Given the description of an element on the screen output the (x, y) to click on. 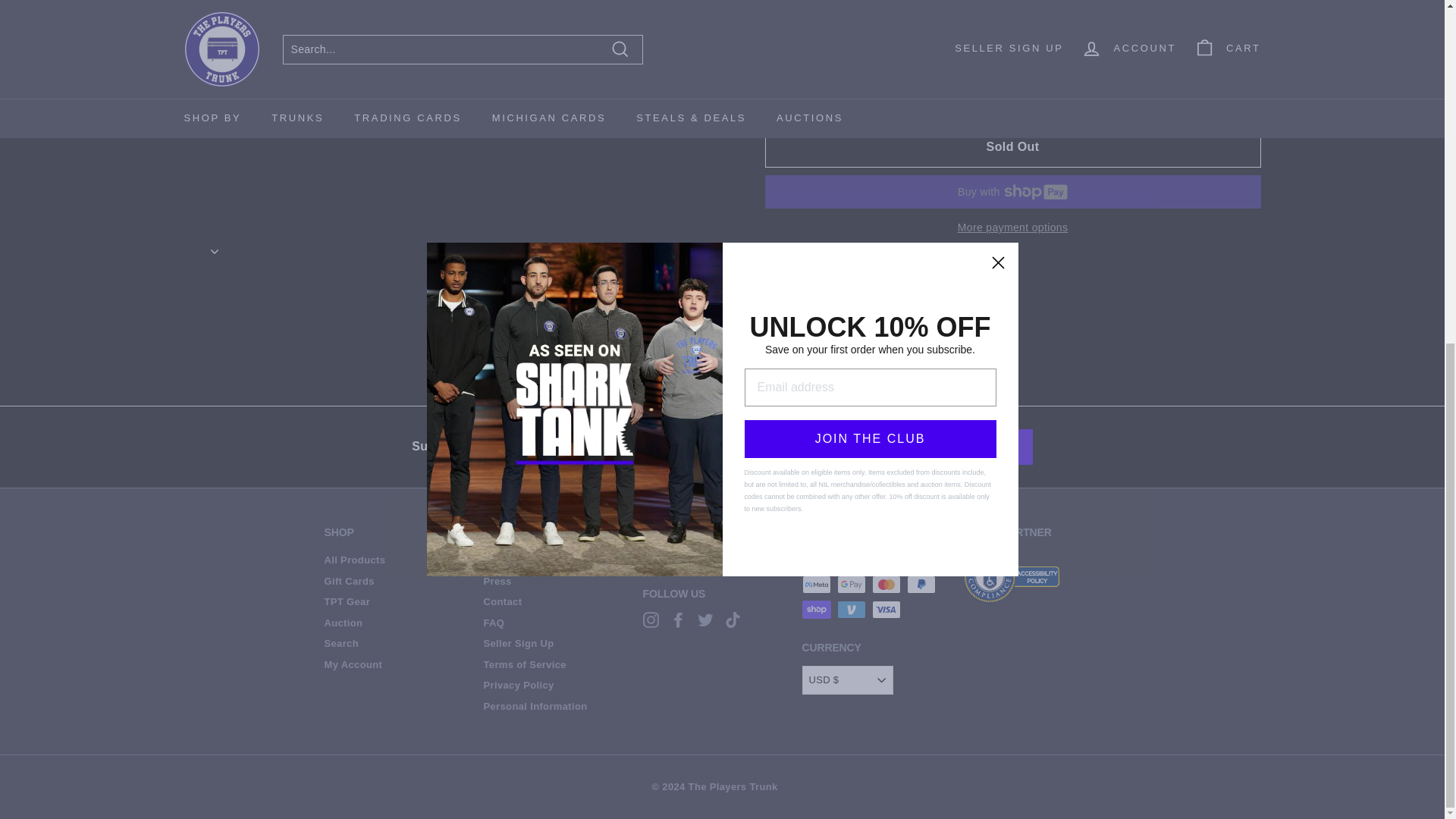
The Players Trunk on Instagram (651, 619)
The Players Trunk on Facebook (677, 619)
Apple Pay (851, 558)
The Players Trunk on Twitter (705, 619)
American Express (816, 558)
The Players Trunk on TikTok (733, 619)
Diners Club (886, 558)
